Given the description of an element on the screen output the (x, y) to click on. 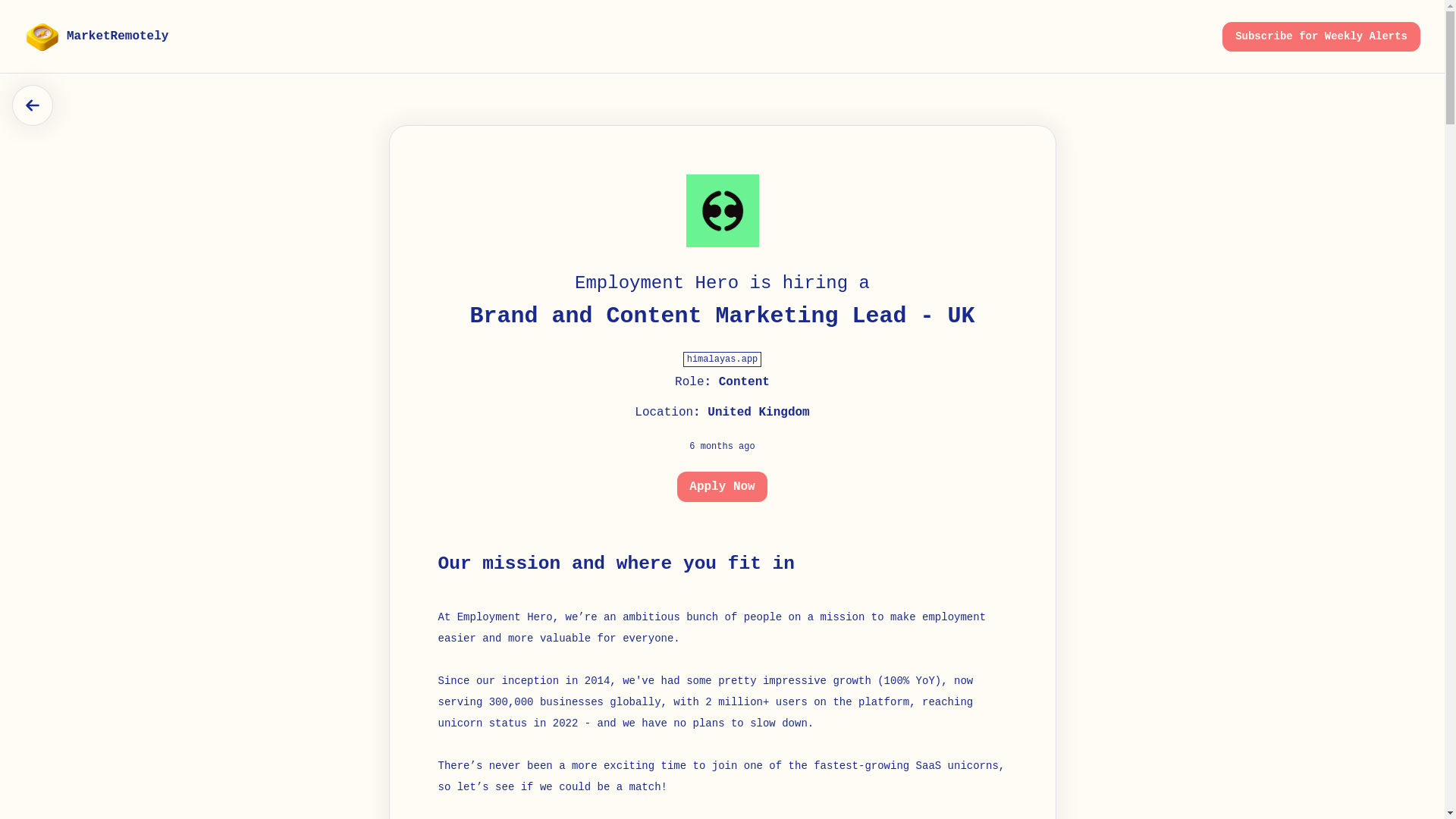
MarketRemotely (96, 36)
Subscribe for Weekly Alerts (1322, 35)
Apply Now (722, 486)
Employment Hero (505, 616)
